Given the description of an element on the screen output the (x, y) to click on. 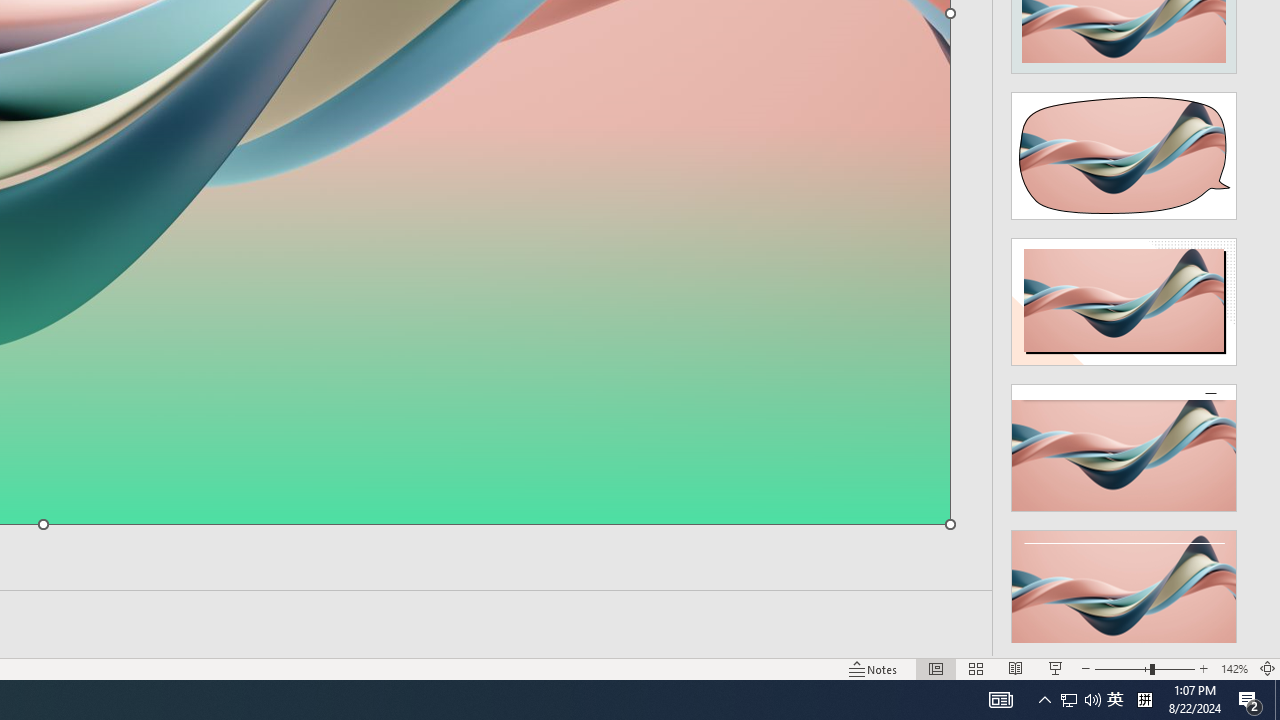
Design Idea (1124, 587)
Zoom 142% (1234, 668)
